Given the description of an element on the screen output the (x, y) to click on. 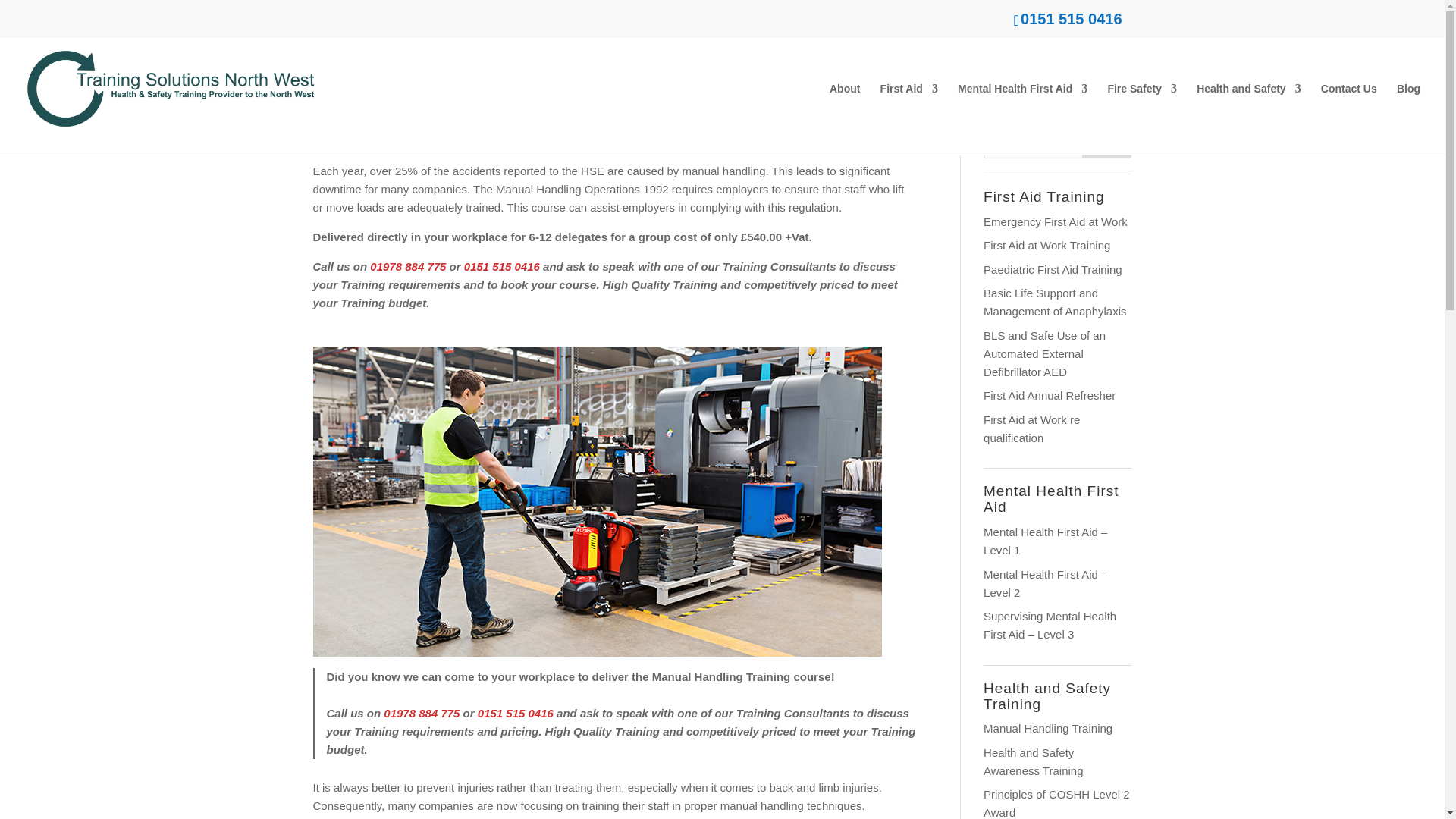
Mental Health First Aid (1022, 118)
Health and Safety (1248, 118)
Fire Safety (1141, 118)
